Given the description of an element on the screen output the (x, y) to click on. 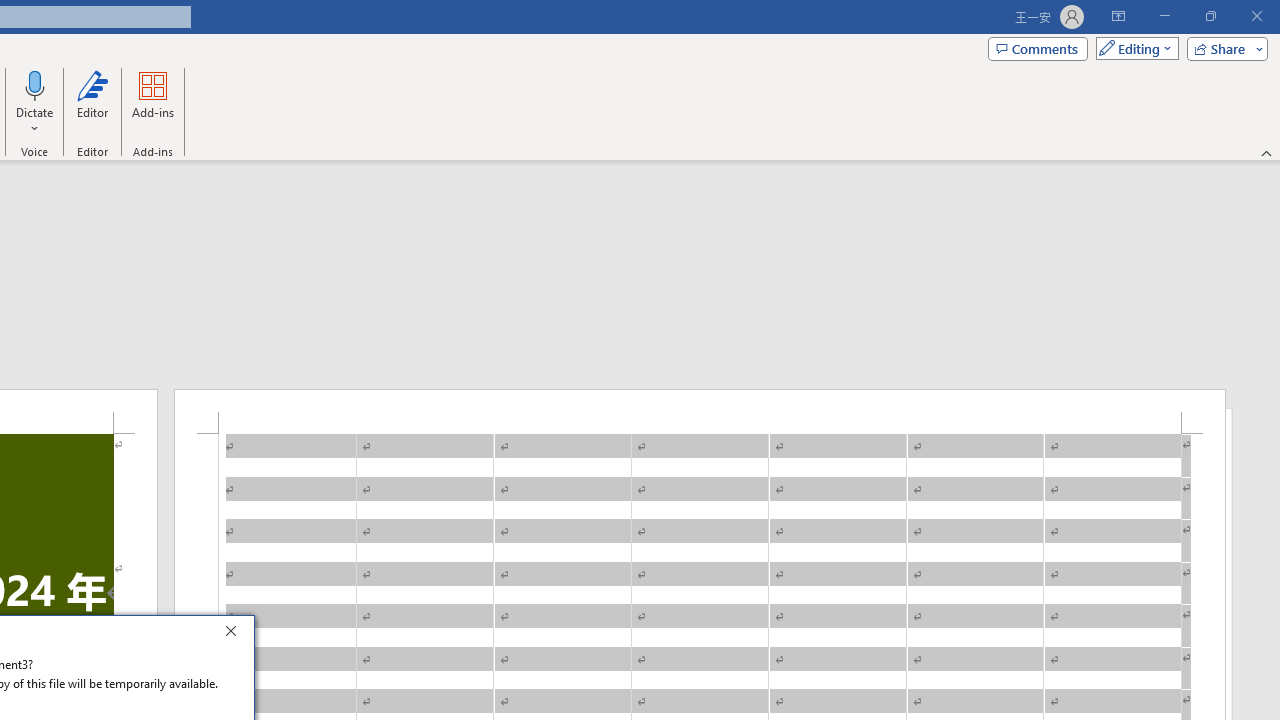
Header -Section 1- (700, 411)
